Given the description of an element on the screen output the (x, y) to click on. 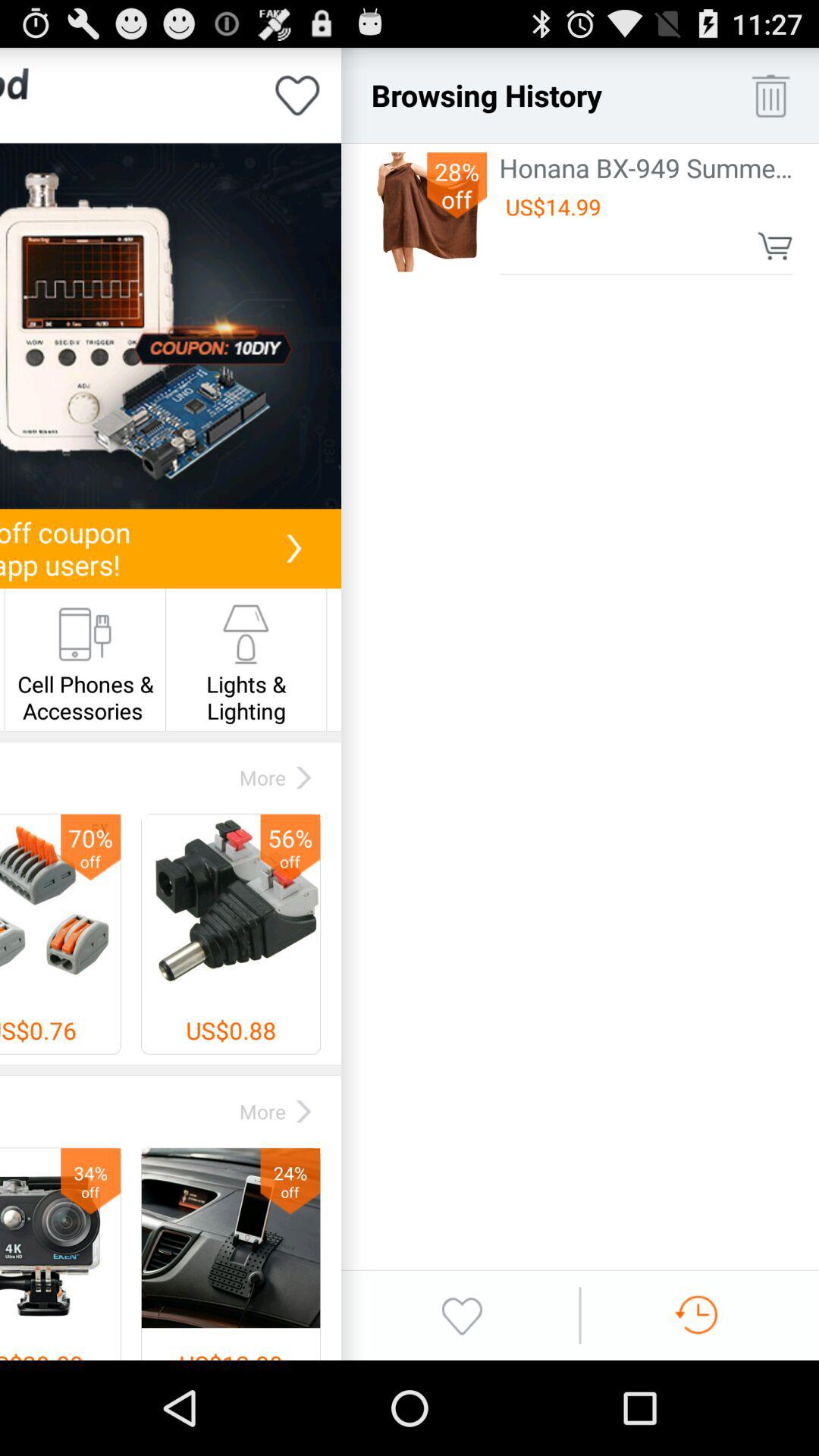
add the item to the cart (774, 245)
